Given the description of an element on the screen output the (x, y) to click on. 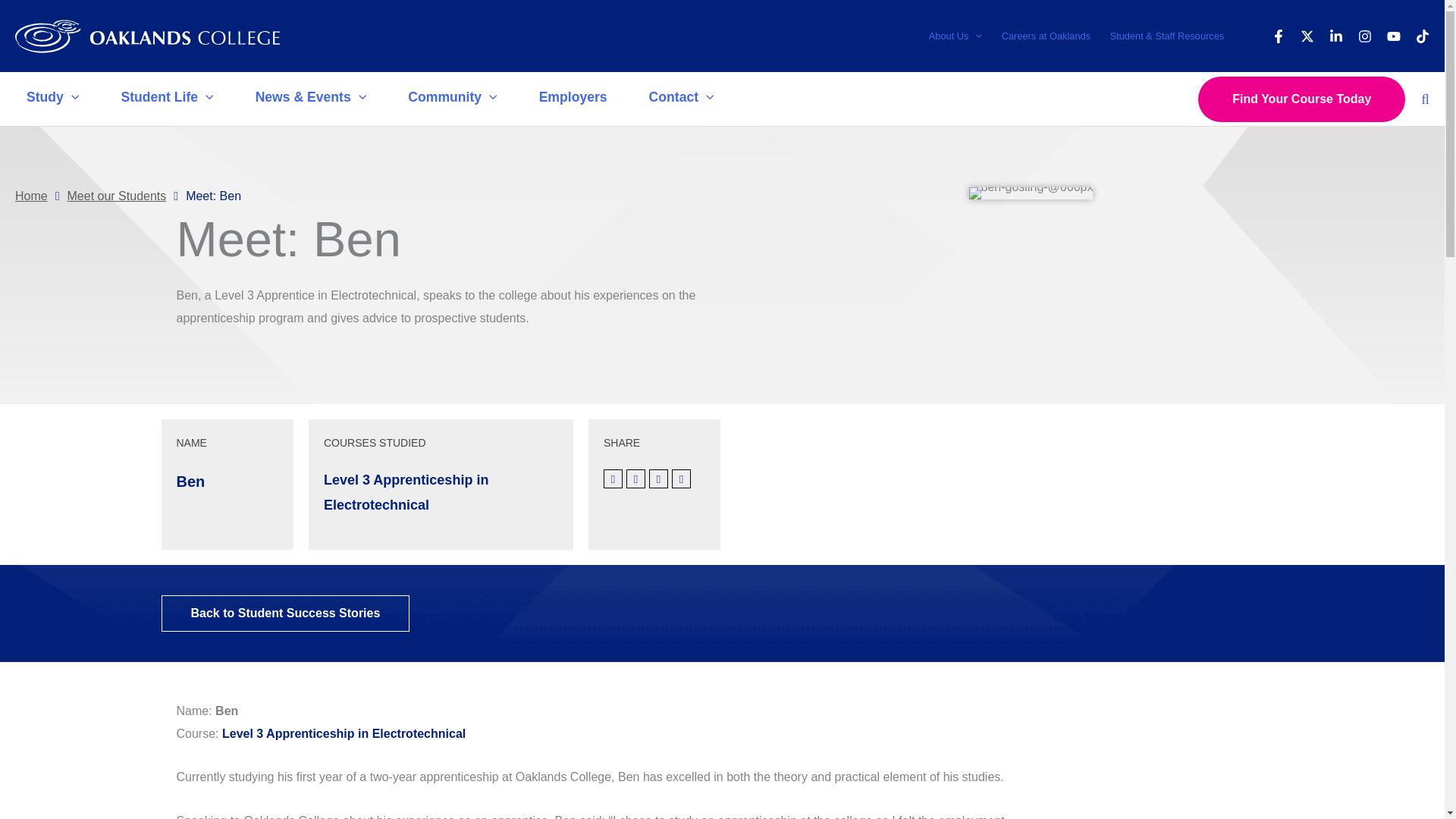
Click Here (284, 613)
Study (54, 99)
Careers at Oaklands (1045, 36)
About Us (954, 36)
